Given the description of an element on the screen output the (x, y) to click on. 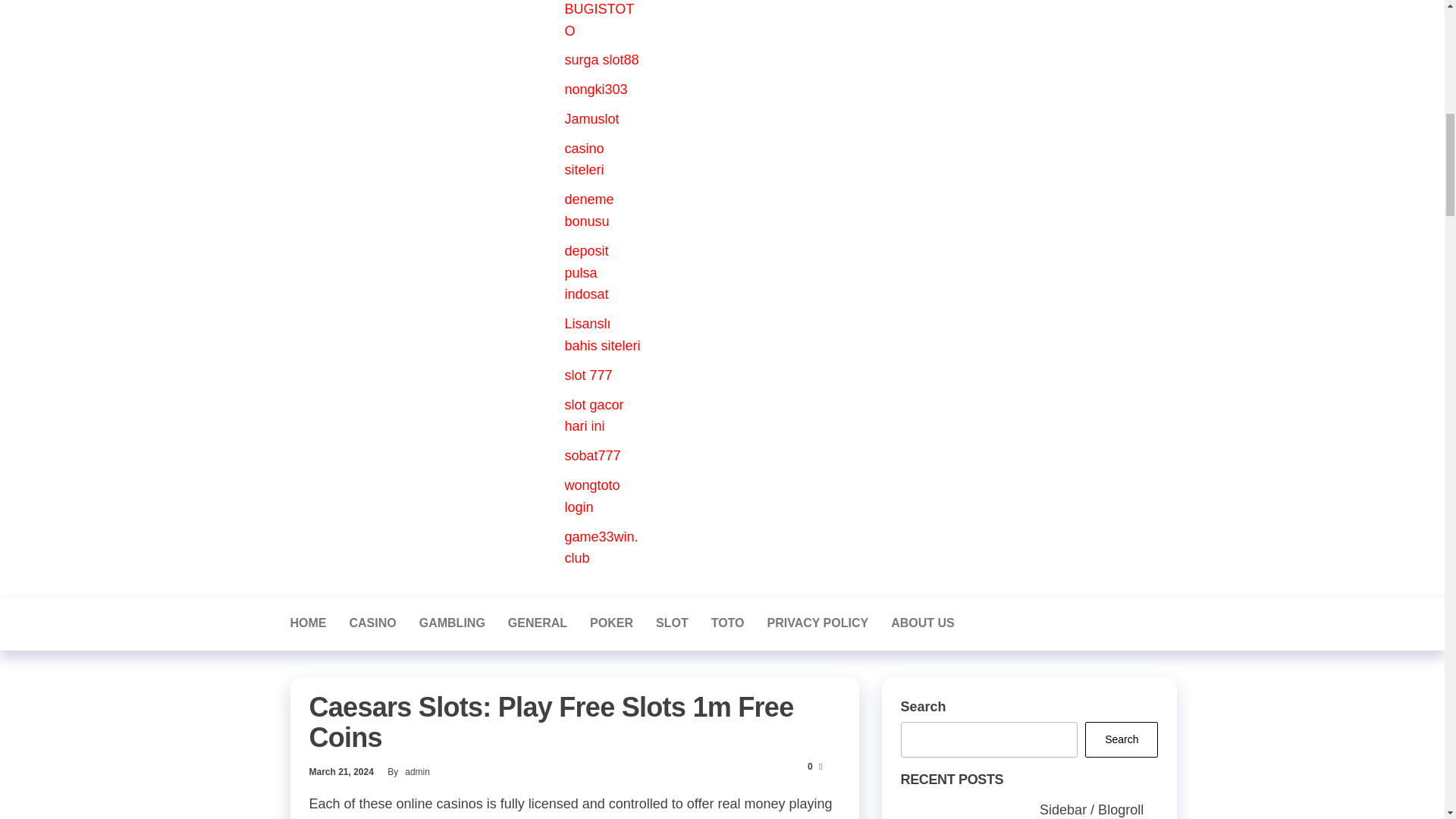
Casino (372, 623)
wongtoto login (592, 496)
surga slot88 (601, 59)
slot gacor hari ini (593, 415)
nongki303 (595, 89)
BUGISTOTO (598, 19)
deneme bonusu (588, 210)
slot 777 (587, 375)
Home (308, 623)
sobat777 (592, 455)
